Given the description of an element on the screen output the (x, y) to click on. 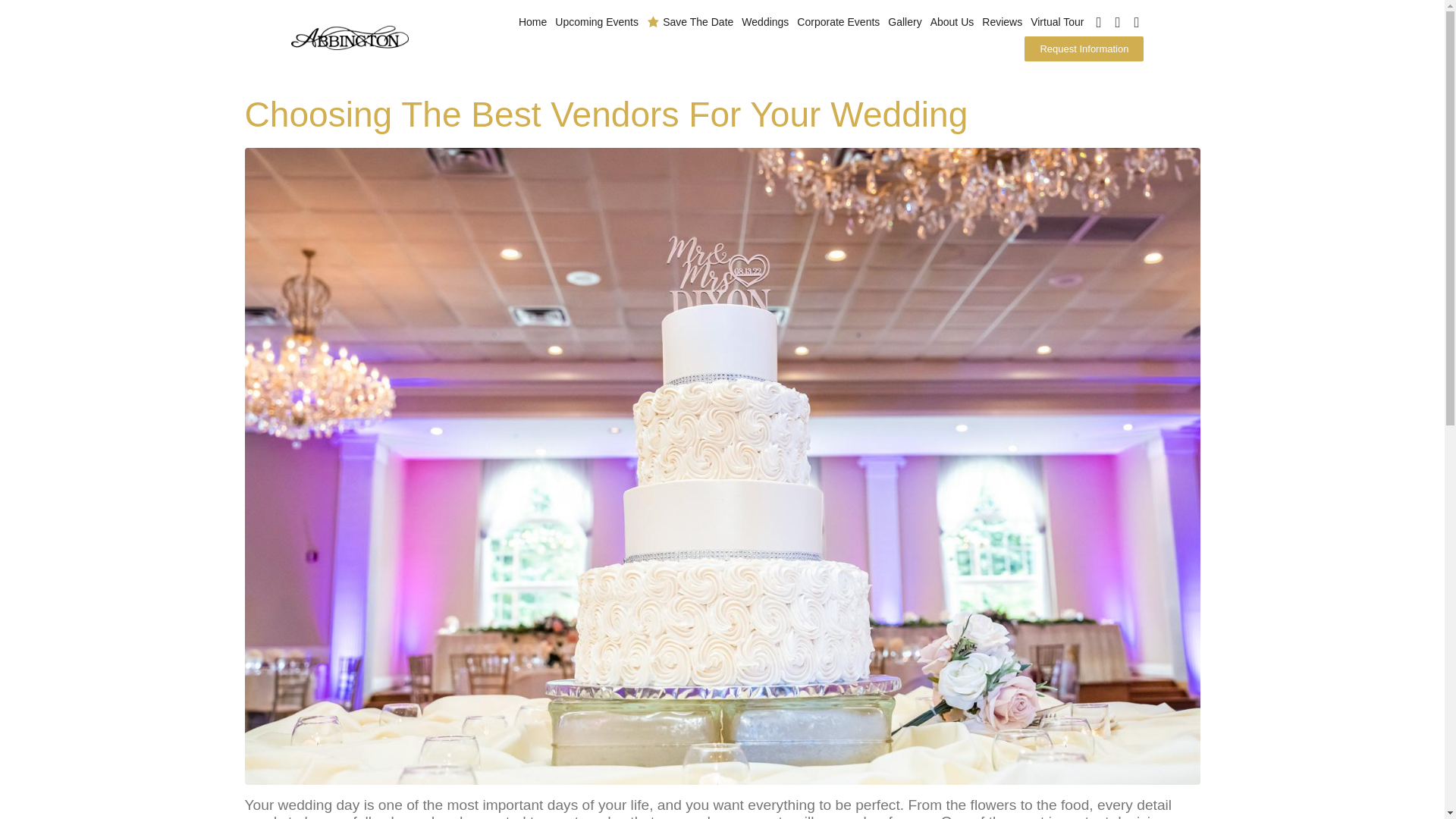
Reviews (1002, 21)
Home (533, 21)
Choosing The Best Vendors For Your Wedding (606, 114)
Choosing The Best Vendors For Your Wedding (721, 465)
Upcoming Events (597, 21)
Save The Date (690, 22)
Corporate Events (838, 21)
About Us (952, 21)
Virtual Tour (1056, 21)
Gallery (904, 21)
Weddings (765, 21)
